Given the description of an element on the screen output the (x, y) to click on. 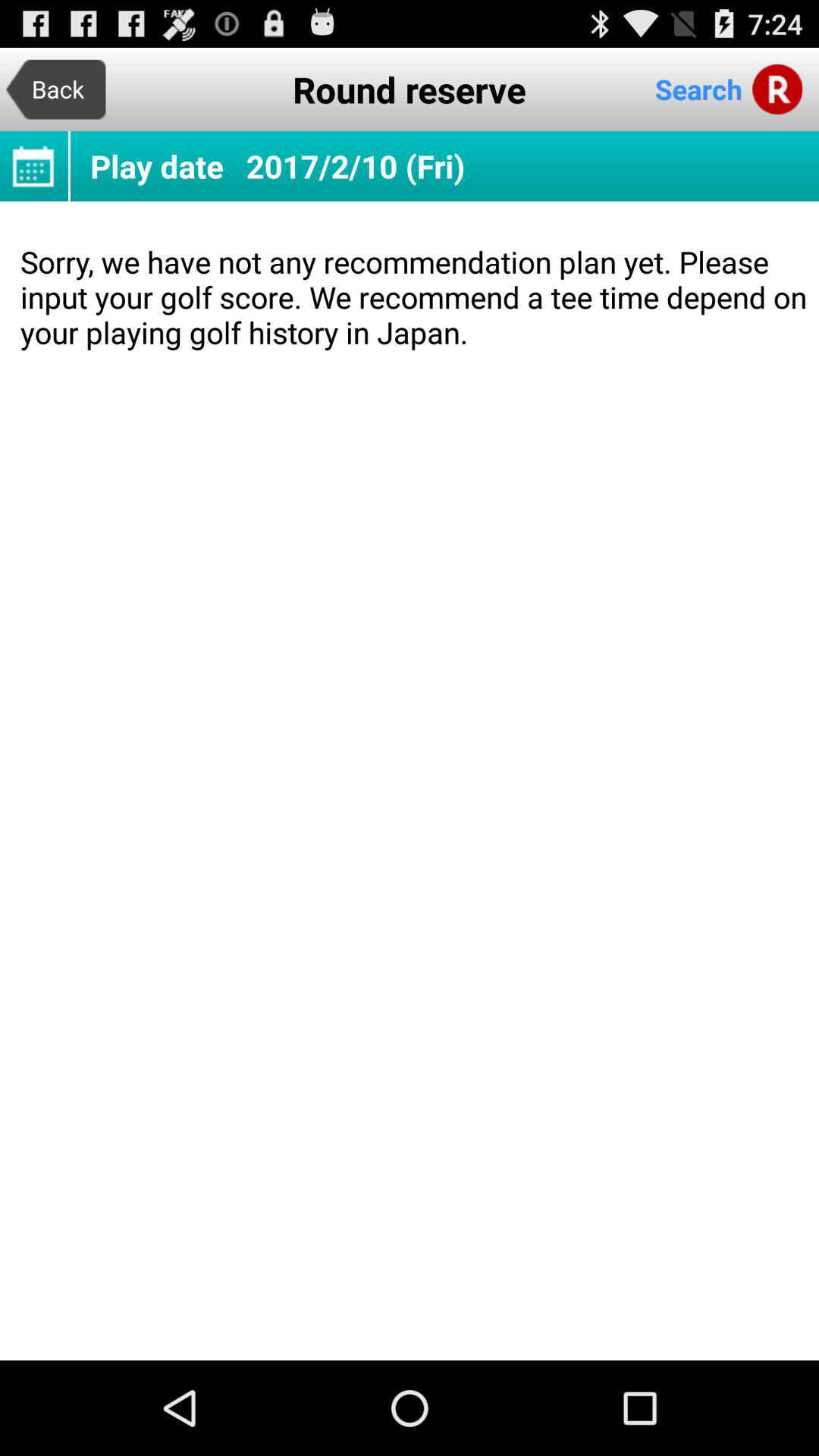
scroll to the back button (55, 89)
